Given the description of an element on the screen output the (x, y) to click on. 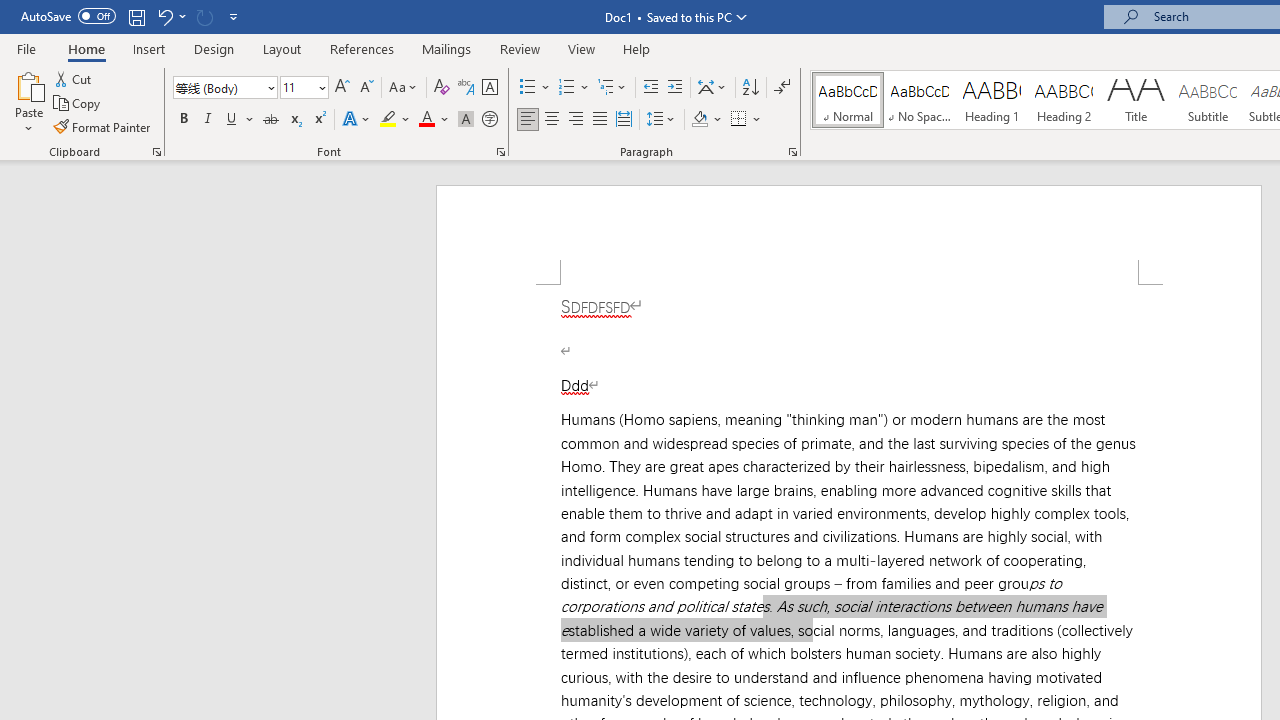
Insert (149, 48)
Decrease Indent (650, 87)
Bold (183, 119)
Font Size (297, 87)
Justify (599, 119)
Mailings (447, 48)
Bullets (527, 87)
Title (1135, 100)
Cut (73, 78)
Save (136, 15)
Text Highlight Color (395, 119)
Font Color (434, 119)
Font Color RGB(255, 0, 0) (426, 119)
